Given the description of an element on the screen output the (x, y) to click on. 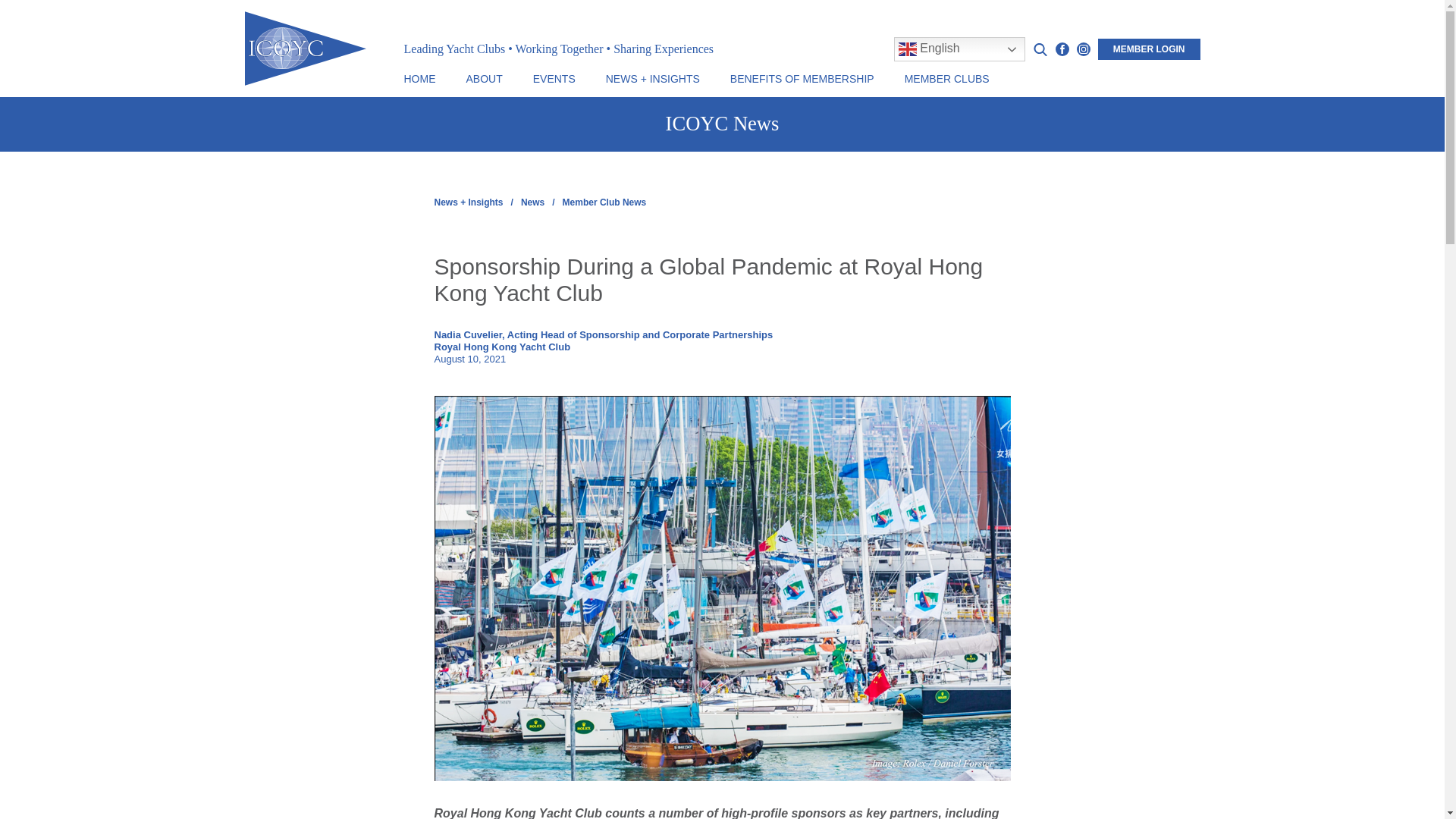
HOME (419, 79)
EVENTS (553, 79)
MEMBER LOGIN (1148, 48)
English (959, 48)
ABOUT (483, 79)
